Given the description of an element on the screen output the (x, y) to click on. 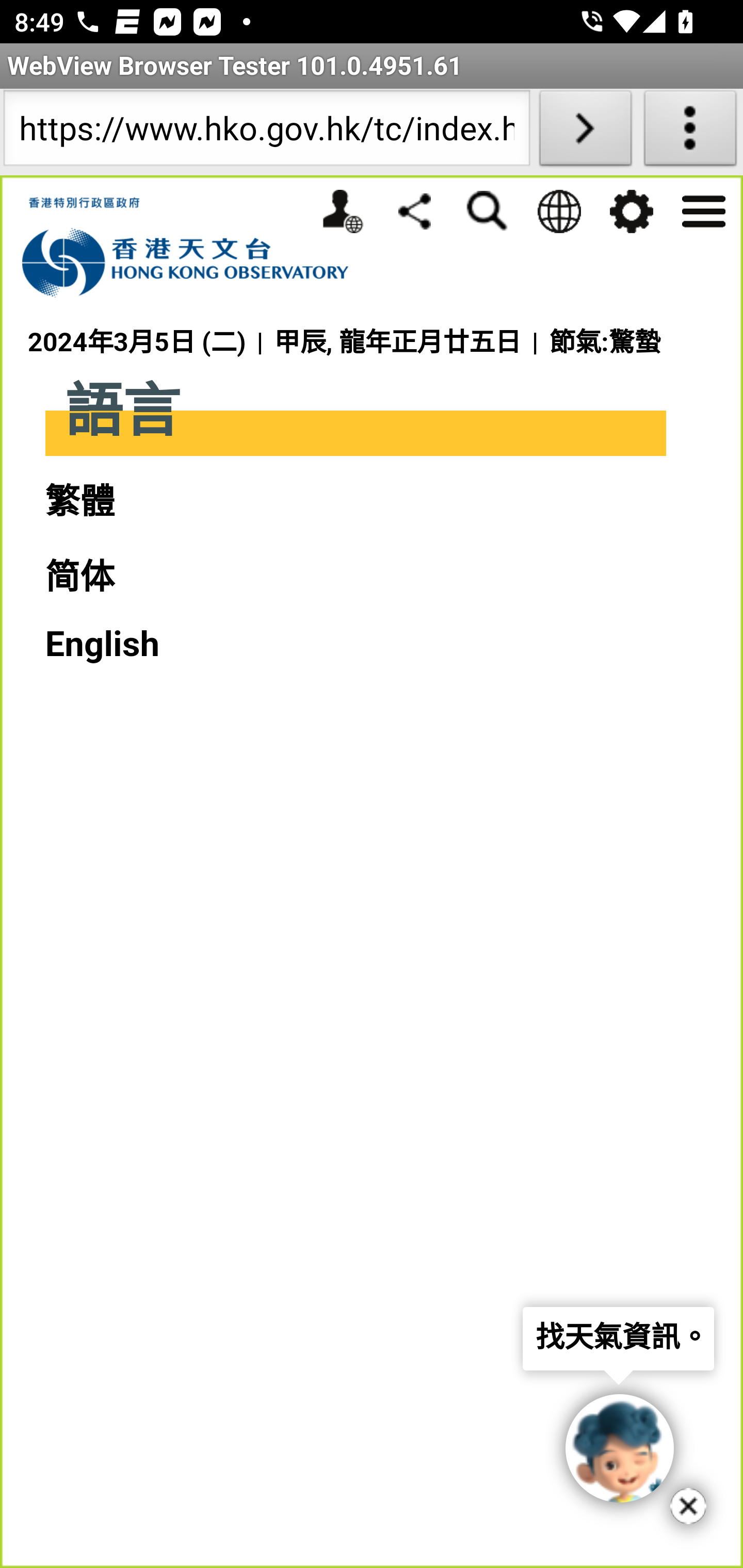
https://www.hko.gov.hk/tc/index.html (266, 132)
Load URL (585, 132)
About WebView (690, 132)
香港天文台 (195, 247)
個人版網站 個人版網站 (341, 211)
搜尋 搜尋 (486, 211)
語言 語言 (558, 211)
分享 分享 (414, 210)
選單 選單 (703, 209)
繁體 (79, 501)
简体 (79, 577)
English (101, 644)
與「度天隊長」聊天 (619, 1447)
關閉 (687, 1505)
